Given the description of an element on the screen output the (x, y) to click on. 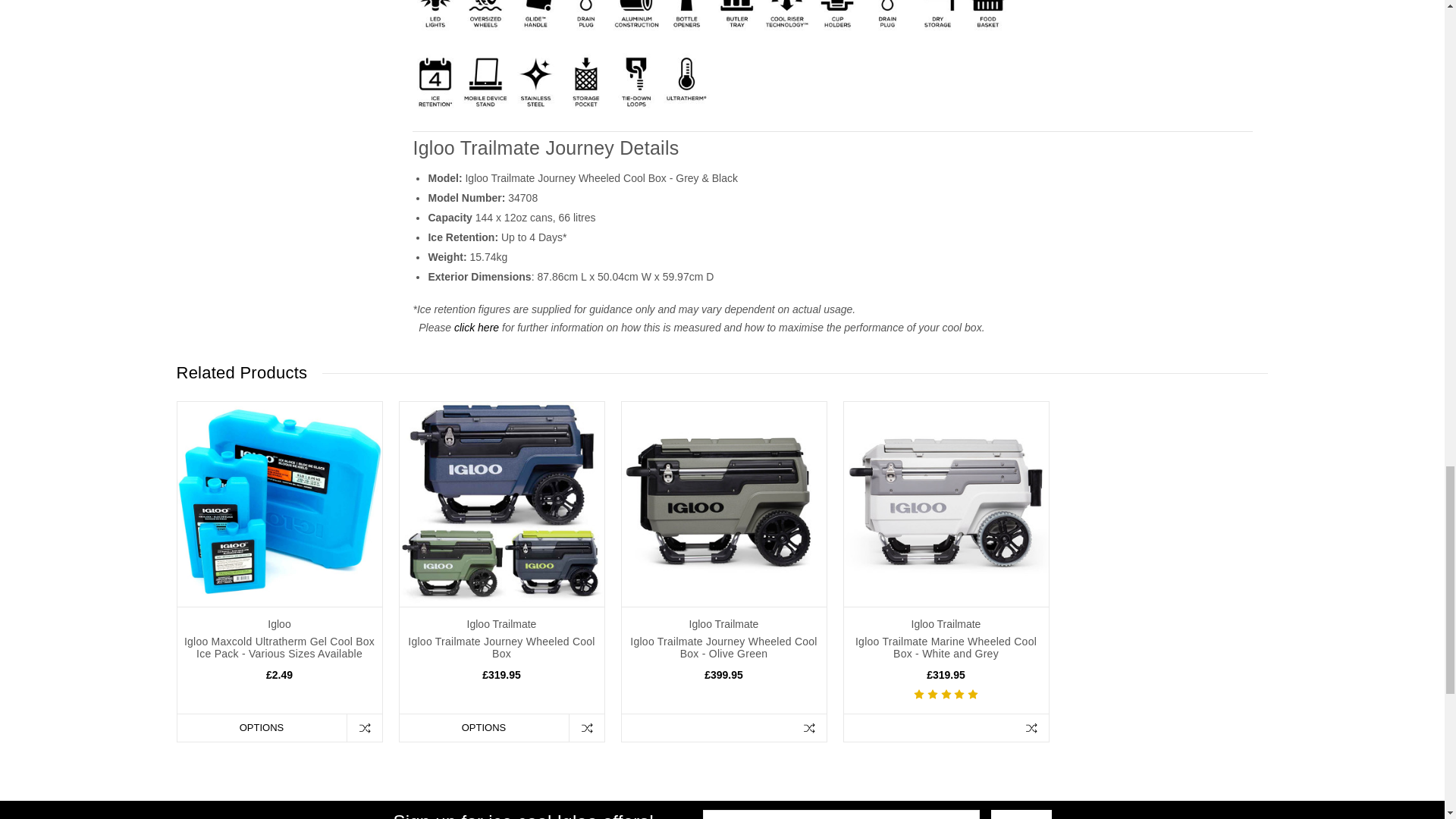
Size comparison of the 4 different Igloo ice block sizes (279, 504)
Igloo Trailmate Wheeled Cool Box Specifications (711, 56)
Igloo Trailmate Journey Wheeled Cool Box - Olive Green (724, 504)
Submit (1021, 814)
Igloo Trailmate Marine Wheeled Cool Box - White and Grey (945, 504)
